Given the description of an element on the screen output the (x, y) to click on. 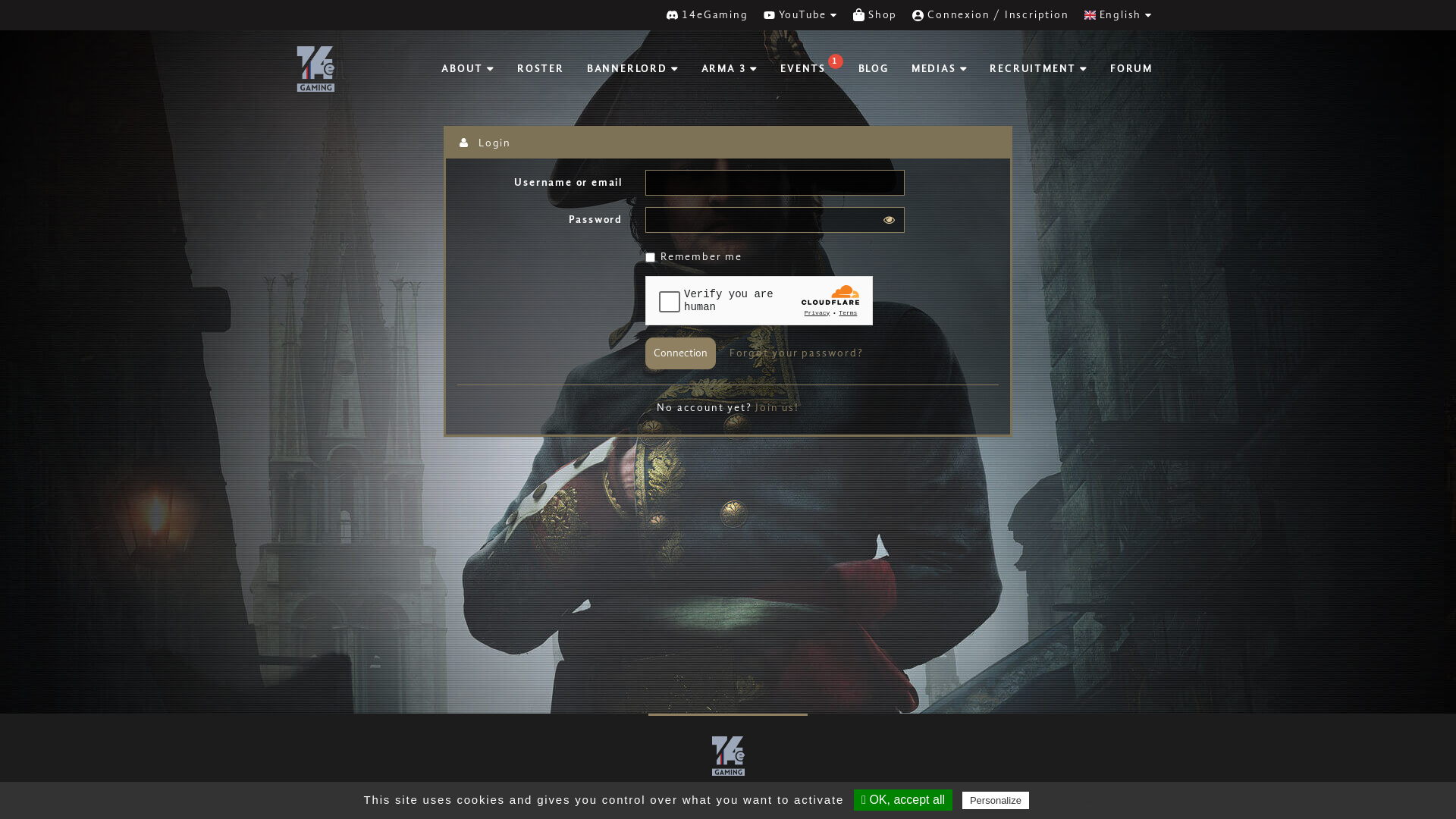
Connexion / Inscription Element type: text (990, 15)
ARMA 3 Element type: text (729, 68)
RECRUITMENT Element type: text (1038, 68)
Personalize Element type: text (995, 800)
BANNERLORD Element type: text (632, 68)
Privacy policy Element type: text (1070, 799)
YouTube Element type: text (800, 15)
Shop Element type: text (874, 15)
ABOUT Element type: text (467, 68)
Join us! Element type: text (776, 407)
ROSTER Element type: text (540, 68)
Legal notices Element type: text (1075, 796)
Forgot your password? Element type: text (796, 353)
14eGaming Element type: text (706, 15)
BLOG Element type: text (873, 68)
Twitter Element type: text (361, 792)
Youtube Element type: text (387, 792)
Widget containing a Cloudflare security challenge Element type: hover (758, 300)
EVENTS
1 Element type: text (807, 68)
MEDIAS Element type: text (939, 68)
Credits Element type: text (1150, 796)
FORUM Element type: text (1131, 68)
Connection Element type: text (680, 353)
FAQ Element type: text (1009, 796)
English Element type: text (1118, 15)
